Given the description of an element on the screen output the (x, y) to click on. 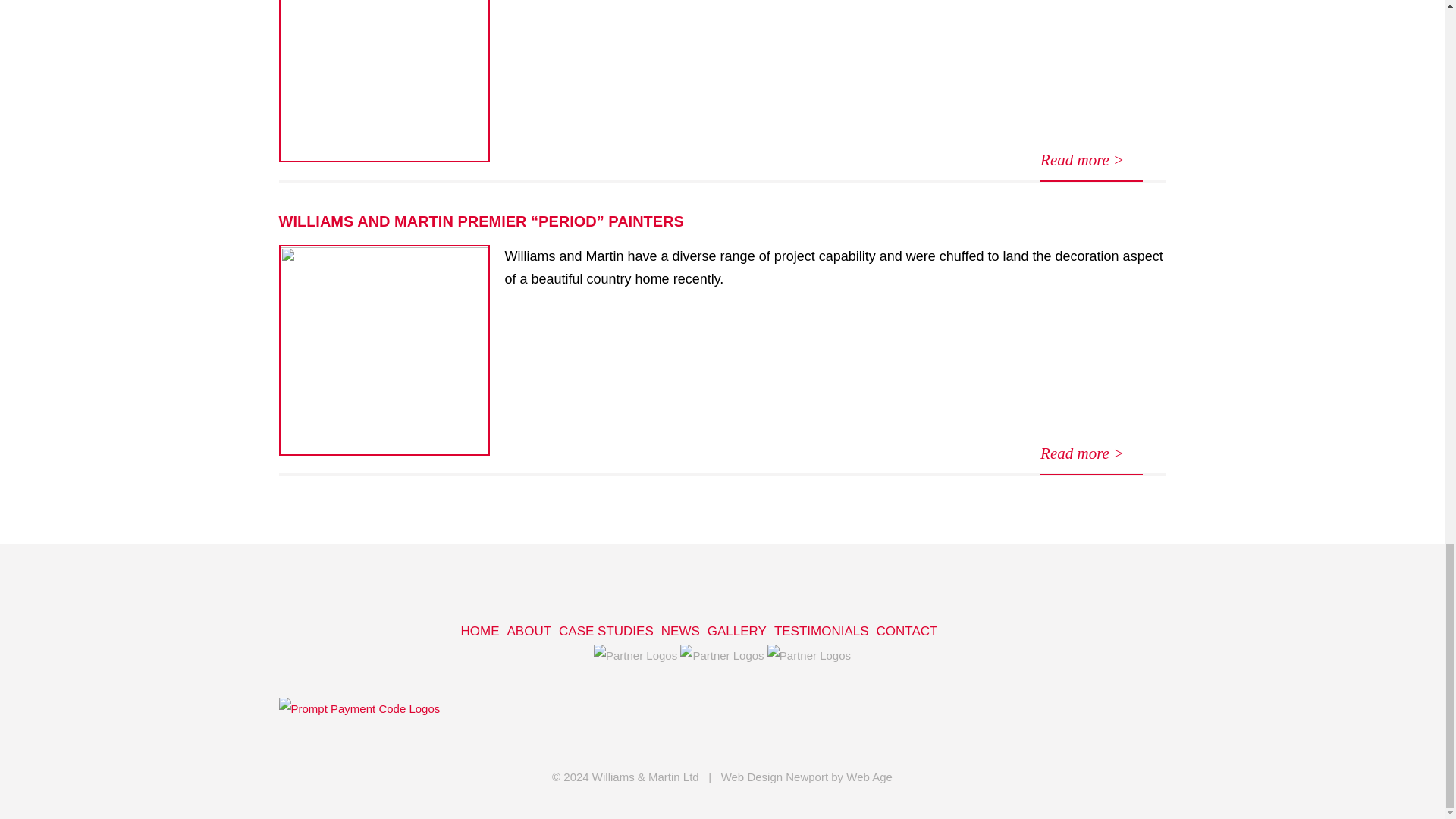
CASE STUDIES (606, 631)
HOME (480, 631)
ABOUT (528, 631)
Web Age (868, 776)
Web Design Newport (774, 776)
